Given the description of an element on the screen output the (x, y) to click on. 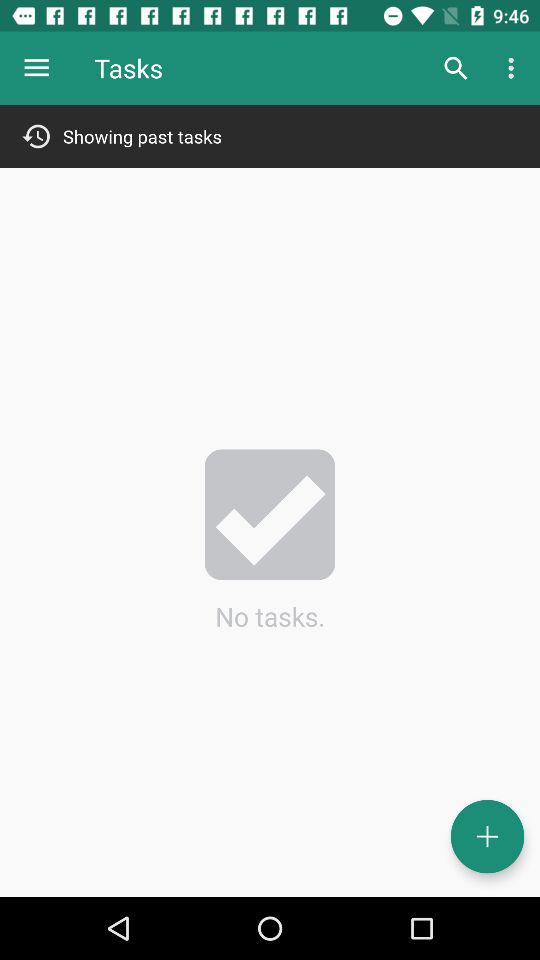
open the icon at the bottom right corner (487, 836)
